Given the description of an element on the screen output the (x, y) to click on. 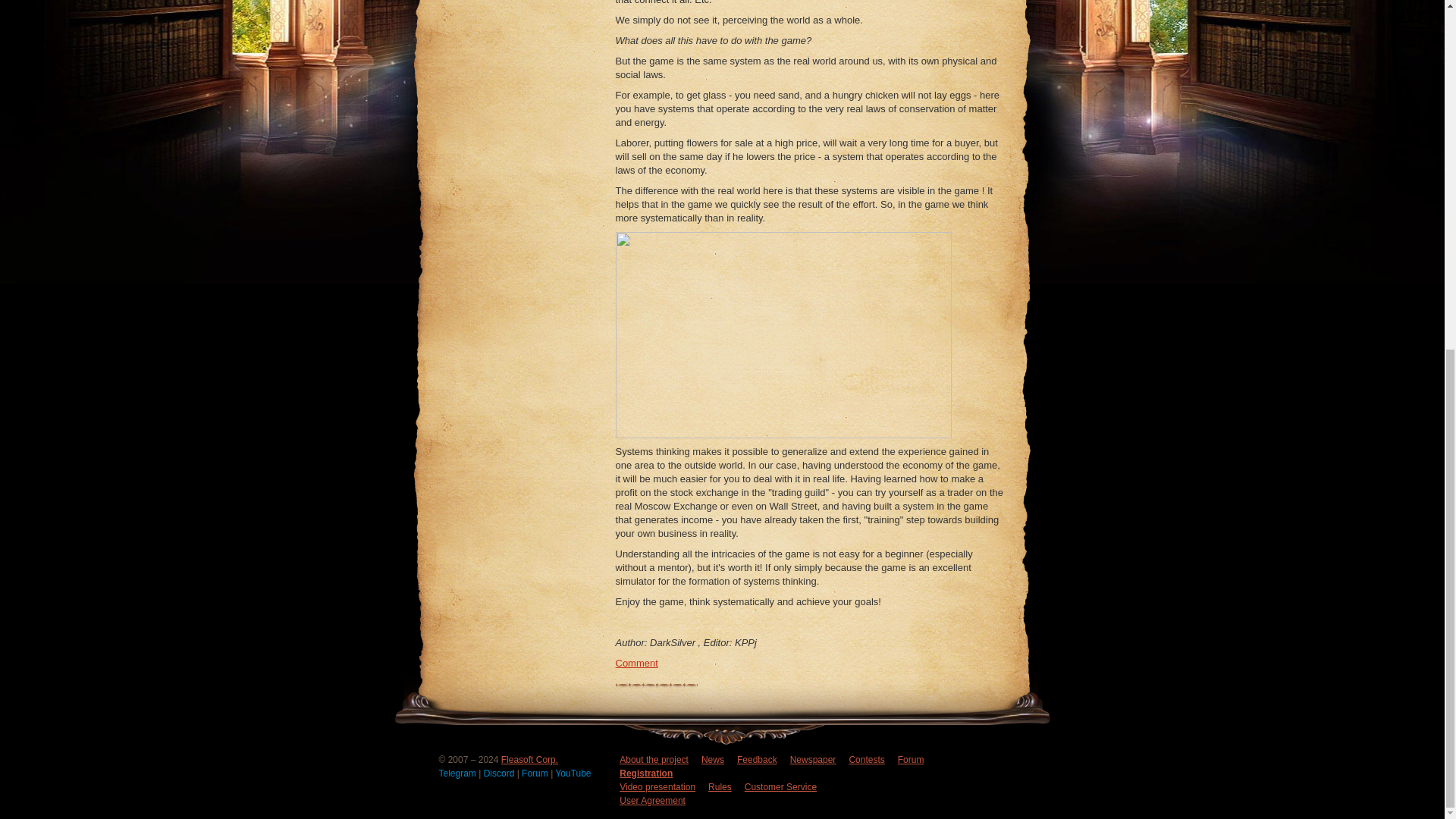
Telegram (458, 773)
About the project (654, 759)
Newspaper (812, 759)
Feedback (756, 759)
News (712, 759)
YouTube (572, 773)
Comment (636, 663)
Forum (535, 773)
Fleasoft Corp. (528, 759)
Discord (499, 773)
